Given the description of an element on the screen output the (x, y) to click on. 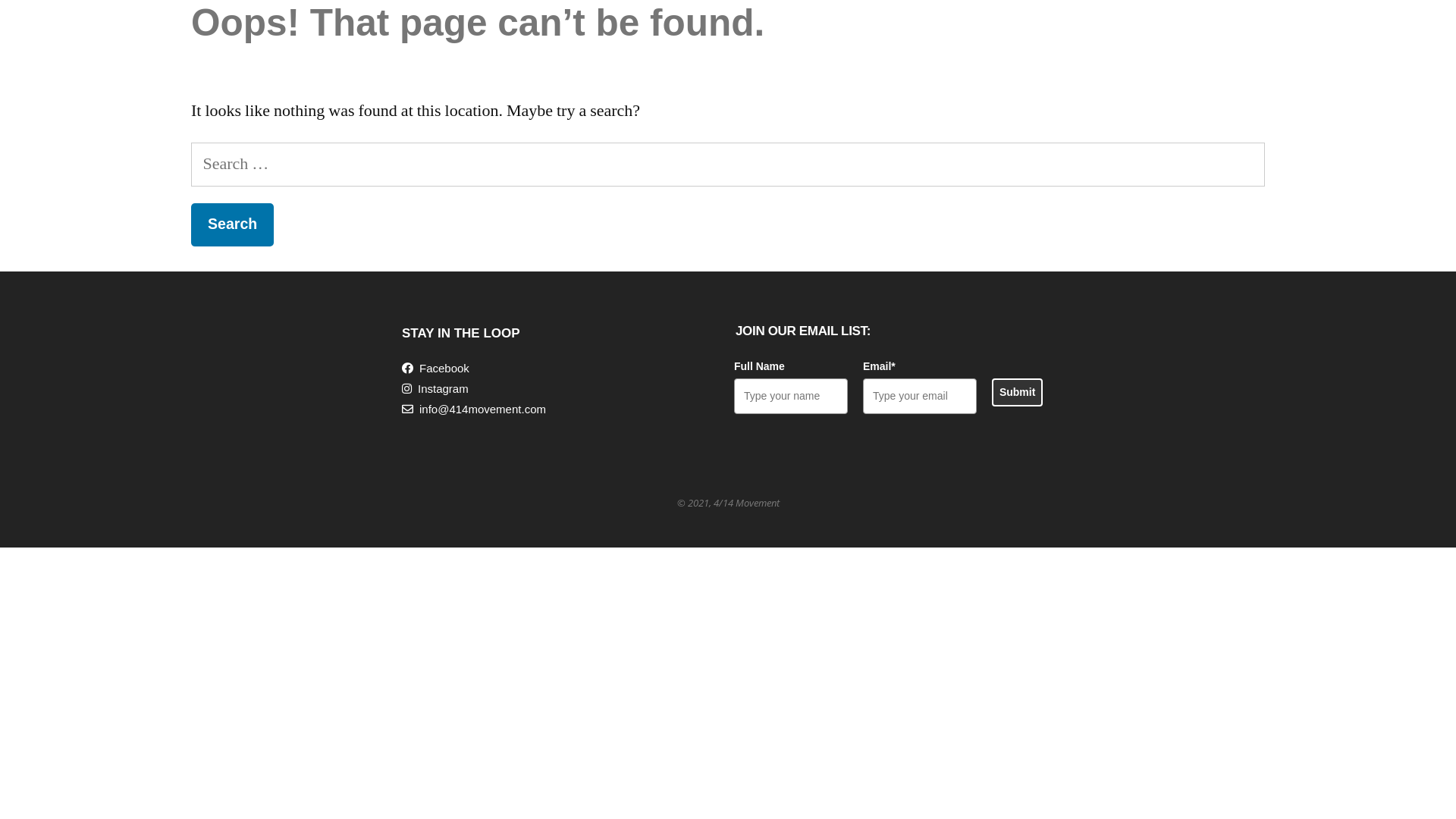
Instagram Element type: text (435, 398)
Facebook Element type: text (435, 367)
Search Element type: text (232, 224)
info@414movement.com Element type: text (473, 408)
Submit Element type: text (1016, 392)
